Given the description of an element on the screen output the (x, y) to click on. 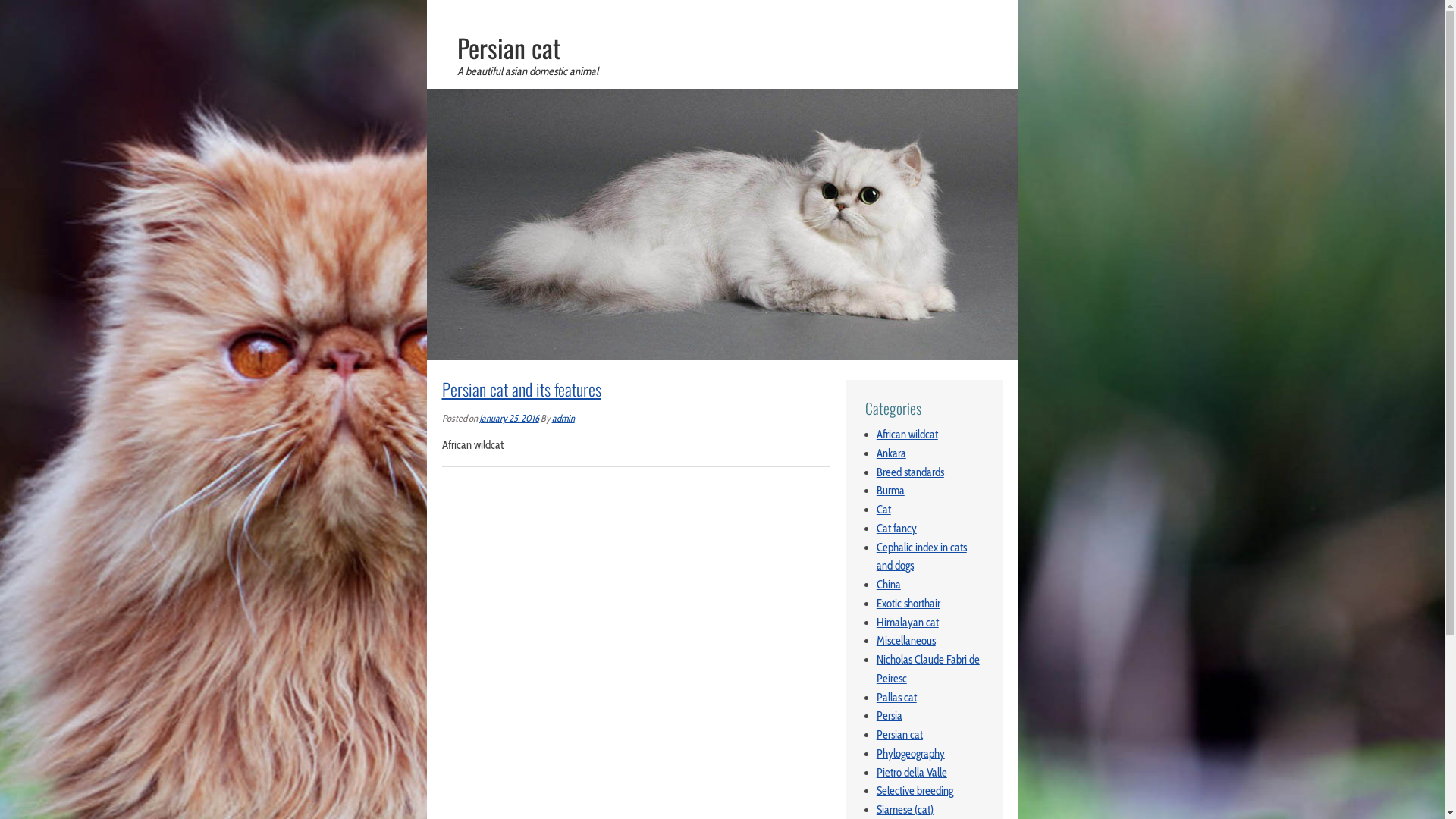
Siamese (cat) Element type: text (904, 809)
Breed standards Element type: text (910, 472)
admin Element type: text (563, 417)
Cephalic index in cats and dogs Element type: text (921, 556)
Persian cat Element type: hover (721, 97)
Cat Element type: text (883, 509)
Persian cat Element type: text (899, 734)
January 25, 2016 Element type: text (509, 417)
Pietro della Valle Element type: text (911, 772)
Cat fancy Element type: text (896, 528)
Miscellaneous Element type: text (905, 640)
Exotic shorthair Element type: text (908, 603)
Phylogeography Element type: text (910, 753)
Persian cat Element type: text (507, 47)
Nicholas Claude Fabri de Peiresc Element type: text (927, 668)
Persian cat and its features Element type: text (520, 388)
Himalayan cat Element type: text (907, 622)
China Element type: text (888, 584)
Pallas cat Element type: text (896, 697)
African wildcat Element type: text (907, 434)
Selective breeding Element type: text (914, 790)
Persia Element type: text (889, 715)
Ankara Element type: text (891, 453)
Burma Element type: text (890, 490)
